Given the description of an element on the screen output the (x, y) to click on. 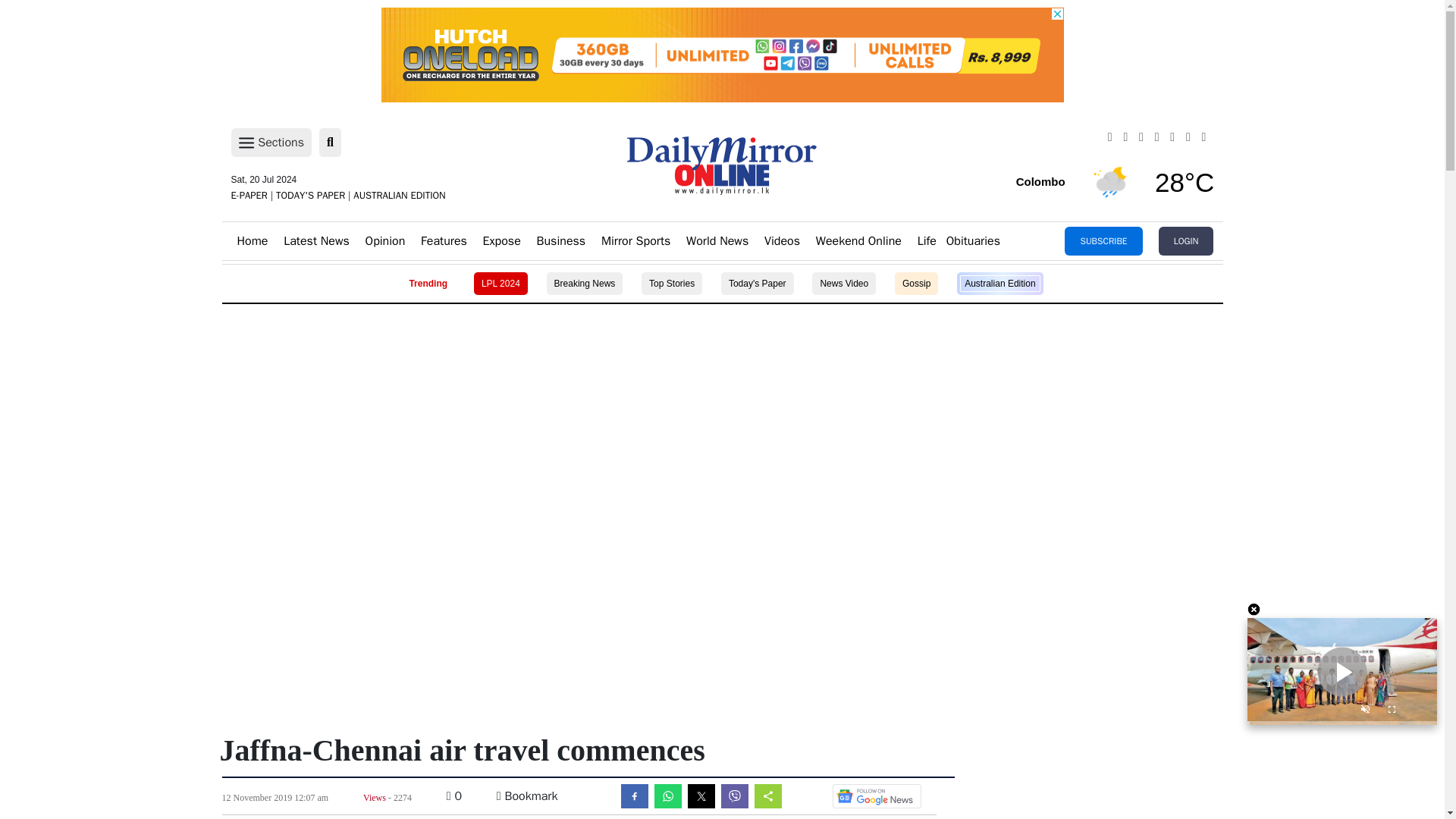
3rd party ad content (721, 461)
Unmute (1364, 711)
3rd party ad content (721, 358)
3rd party ad content (721, 54)
3rd party ad content (721, 562)
Play (1342, 671)
